Given the description of an element on the screen output the (x, y) to click on. 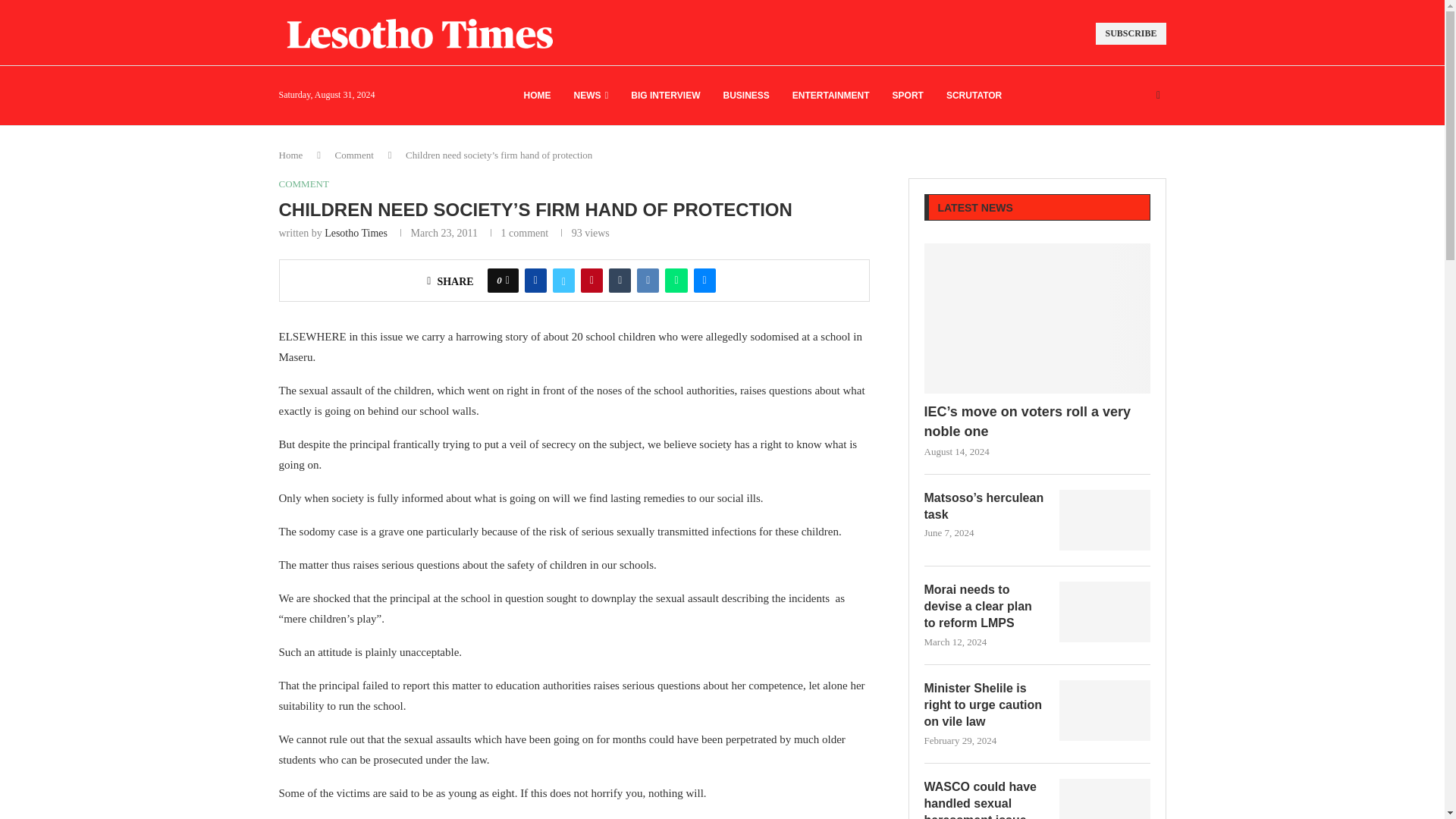
ENTERTAINMENT (830, 95)
SUBSCRIBE (1131, 33)
SCRUTATOR (973, 95)
BIG INTERVIEW (665, 95)
BUSINESS (745, 95)
